Given the description of an element on the screen output the (x, y) to click on. 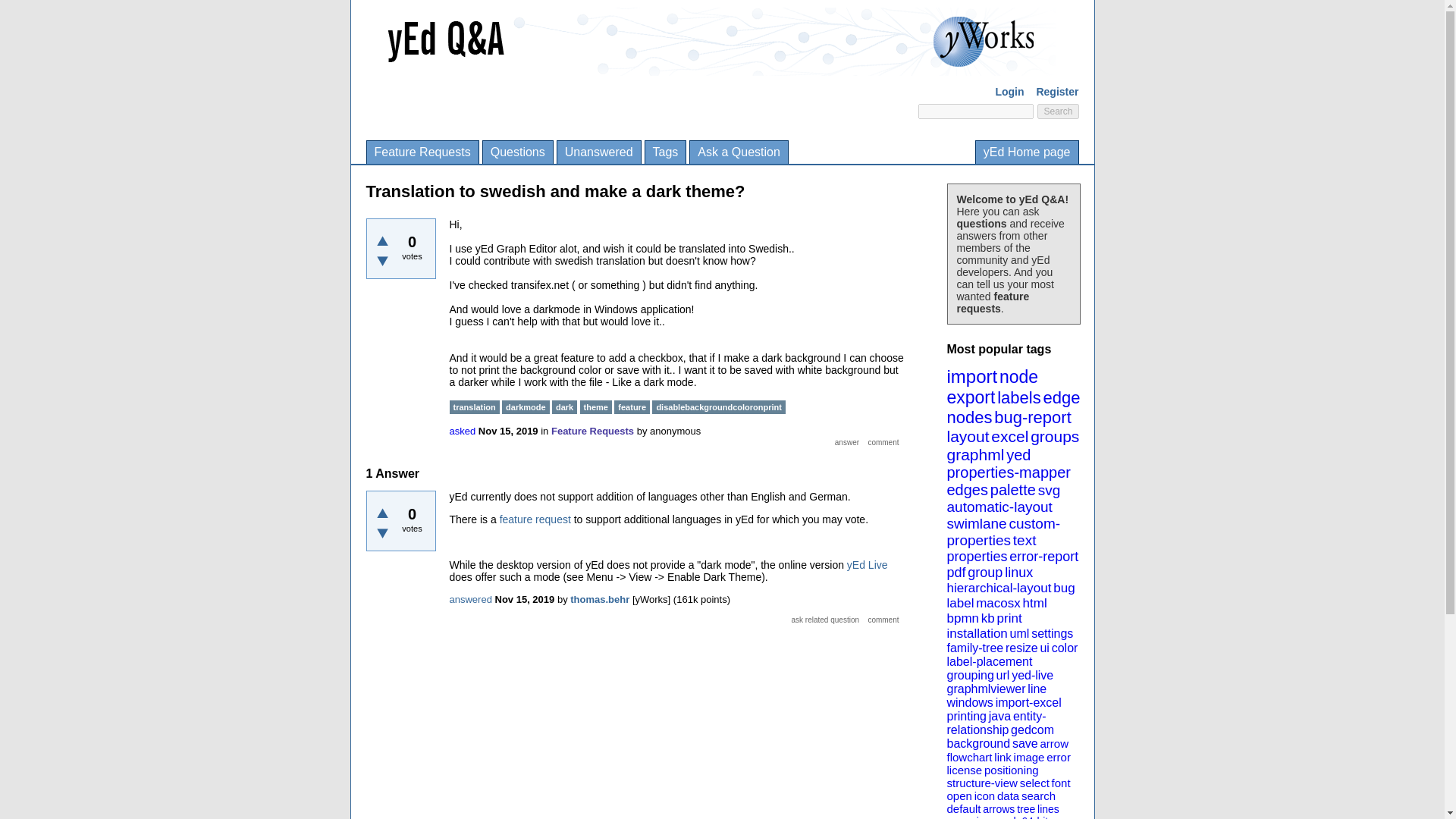
properties (976, 556)
Click to vote up (381, 512)
labels (1019, 397)
Add a comment on this question (882, 442)
answer (847, 442)
automatic-layout (998, 506)
html (1034, 603)
svg (1049, 489)
Register (1056, 91)
Ask a Question (738, 151)
yEd Home page (1026, 151)
error-report (1043, 556)
Click to vote down (381, 260)
comment (882, 442)
bug (1063, 587)
